Given the description of an element on the screen output the (x, y) to click on. 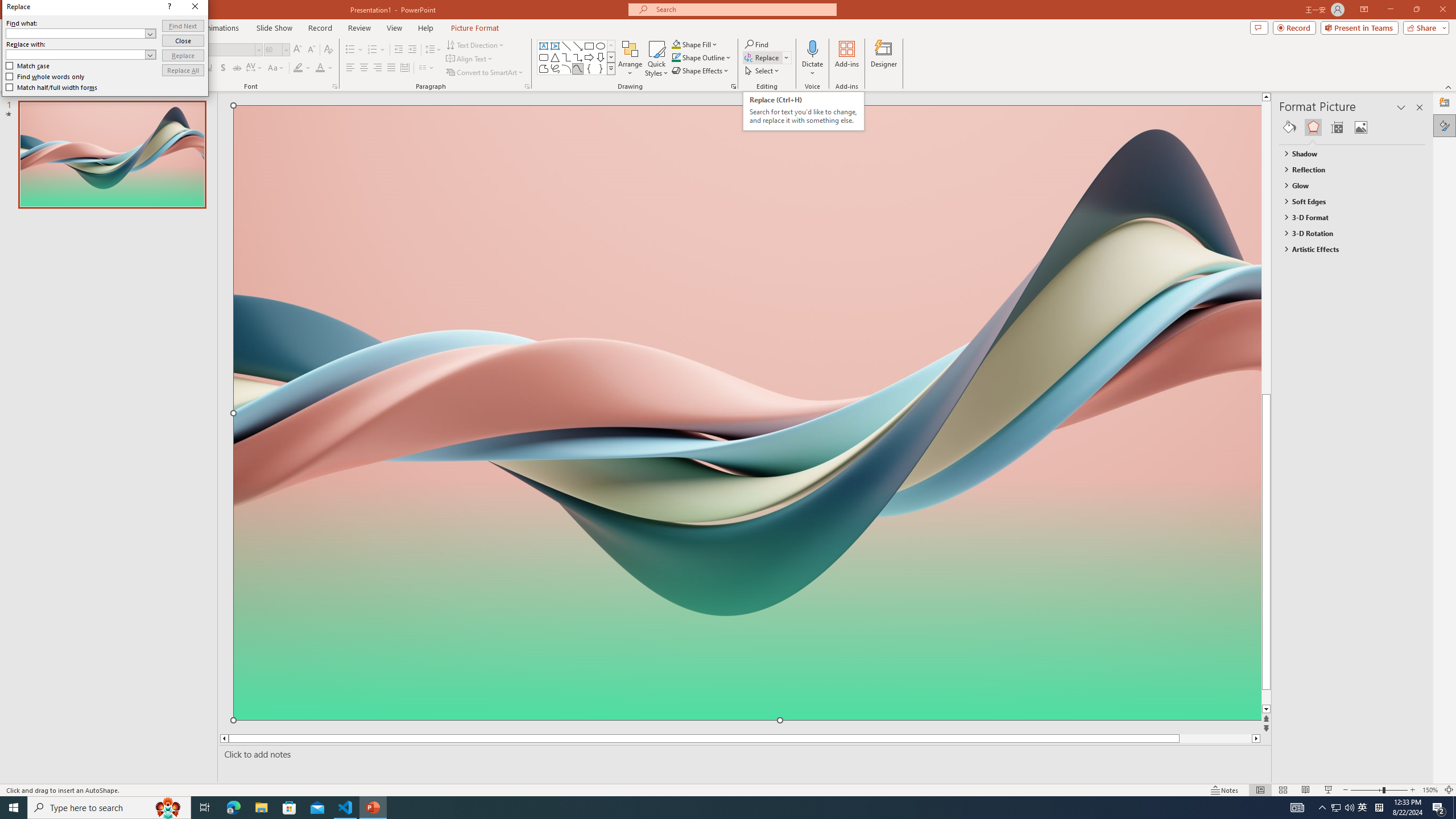
Numbering (376, 49)
Close pane (1419, 107)
More Options (812, 68)
Visual Studio Code - 1 running window (345, 807)
Microsoft search (742, 9)
Text Box (543, 45)
Notes  (1225, 790)
Microsoft Edge (233, 807)
Justify (390, 67)
Row Down (611, 56)
Minimize (1390, 9)
Shapes (611, 68)
Present in Teams (1359, 27)
Decrease Indent (398, 49)
Class: NetUIScrollBar (1420, 460)
